Given the description of an element on the screen output the (x, y) to click on. 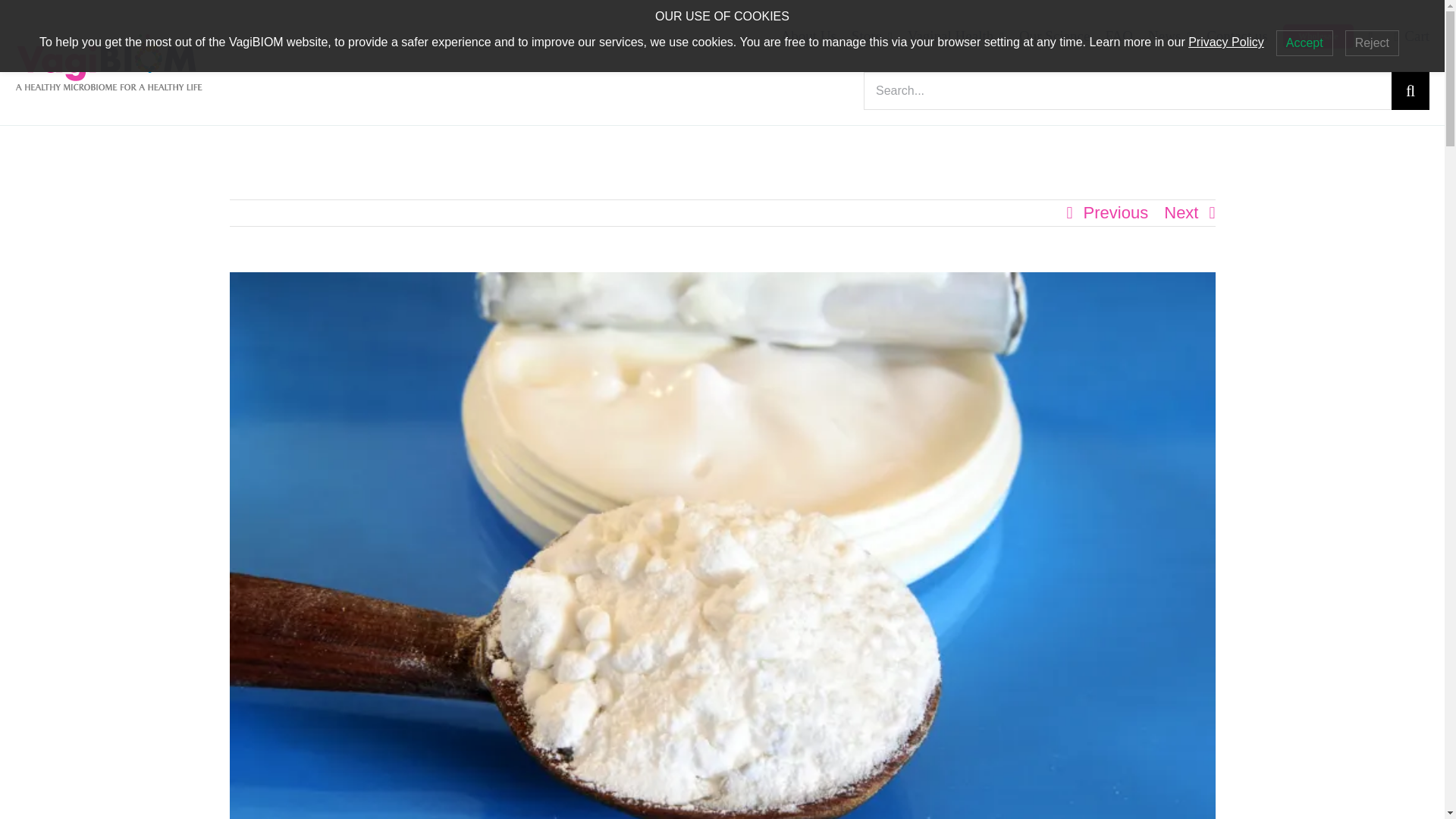
Our Science (1054, 36)
Vaginal Health (955, 36)
Wholesale (1318, 36)
